Given the description of an element on the screen output the (x, y) to click on. 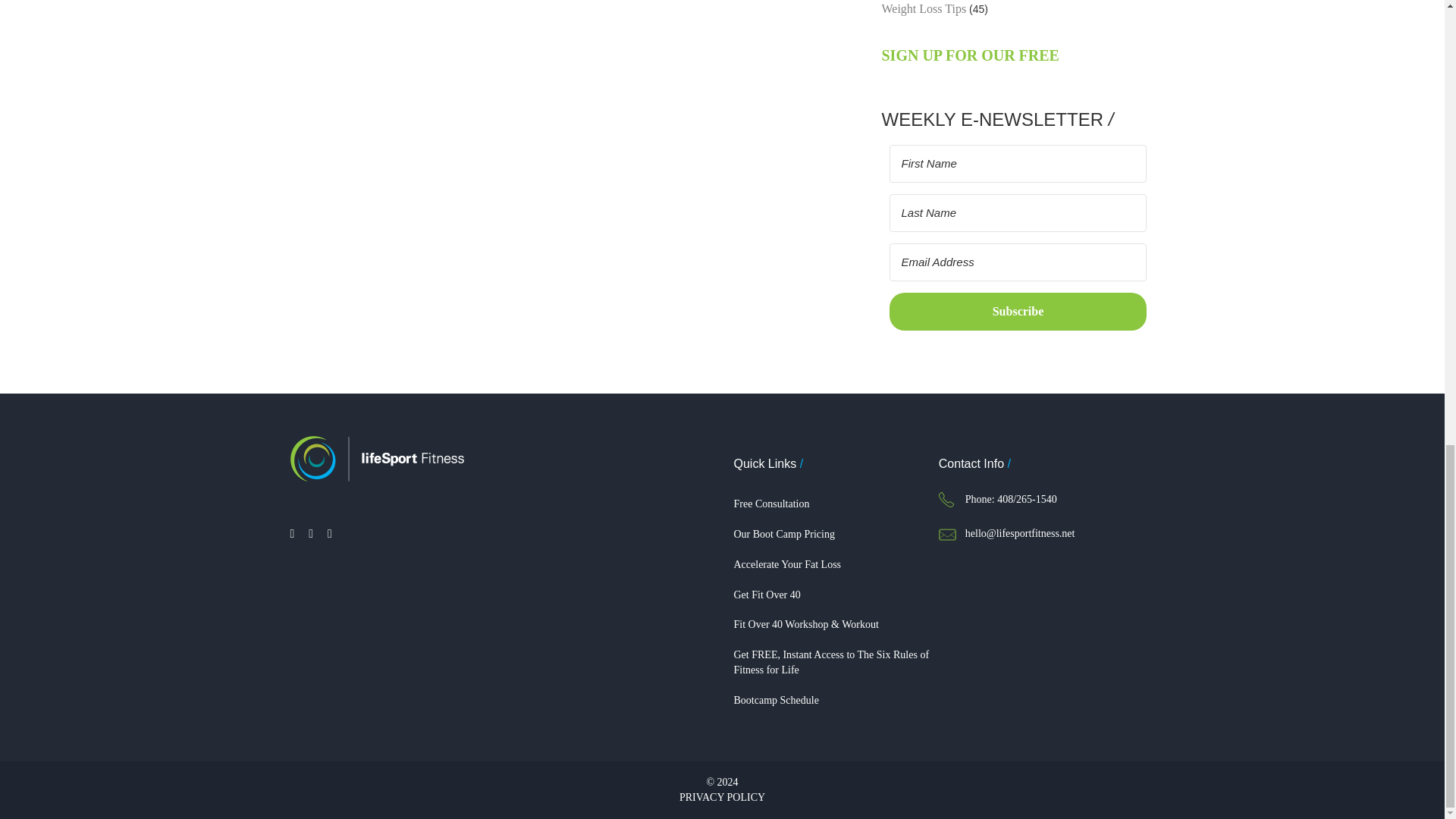
LifeSport Fitness (376, 458)
